Given the description of an element on the screen output the (x, y) to click on. 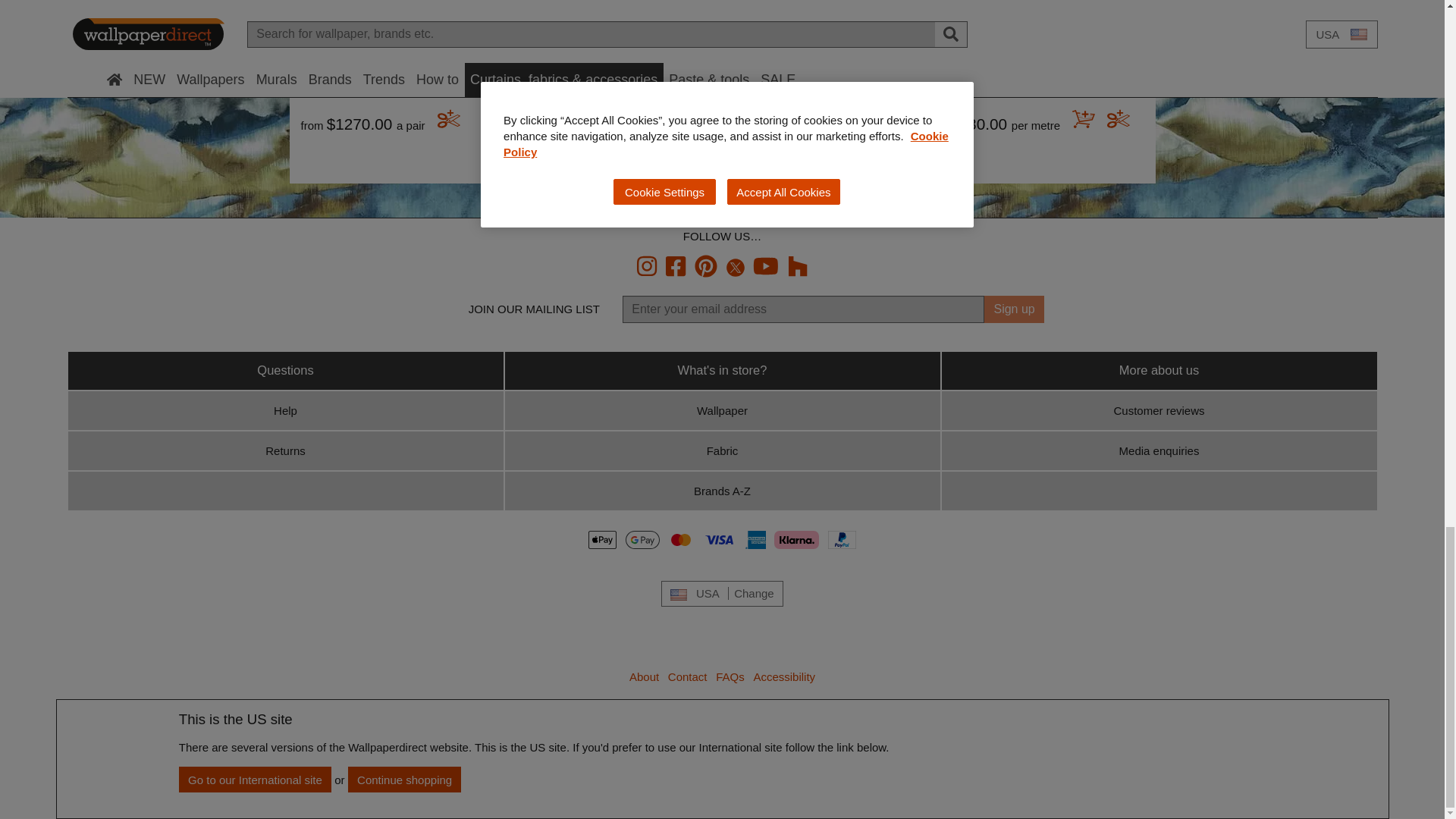
Add a sample of kailani fabric in lagoon to your basket (652, 120)
Add a sample of kailani fabric in lagoon to your basket (449, 120)
Add Ertha fabric in celestial to your cart (1082, 120)
Add Eco Takara fabric in frost to your cart (867, 120)
Add a sample of eco Takara fabric in frost to your basket (900, 120)
